Given the description of an element on the screen output the (x, y) to click on. 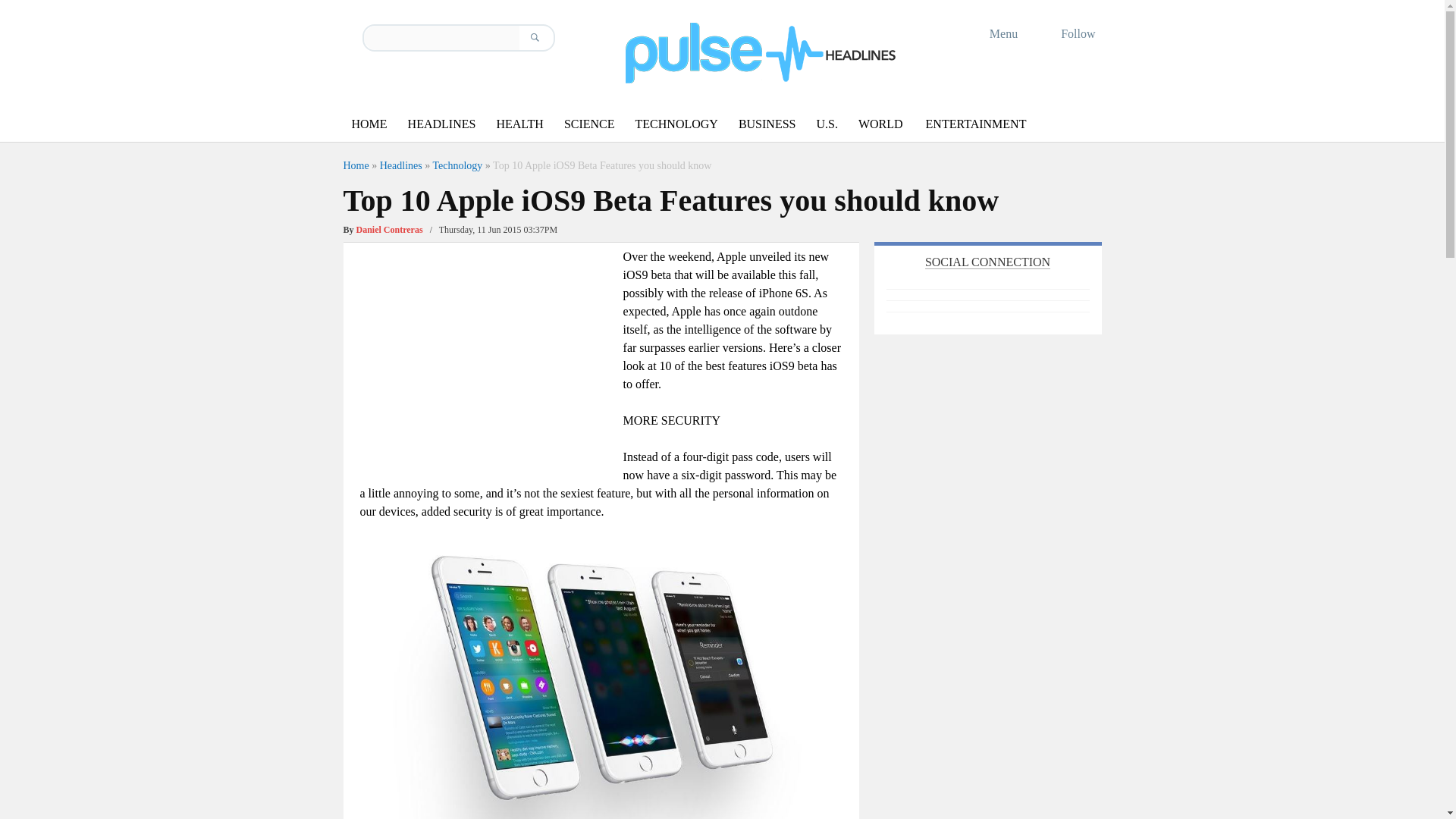
HEADLINES (441, 123)
HEALTH (519, 123)
Technology (456, 165)
Home (355, 165)
HOME (368, 123)
ENTERTAINMENT (975, 123)
SCIENCE (589, 123)
Daniel Contreras (389, 229)
Headlines (401, 165)
Menu (993, 33)
WORLD (880, 123)
Follow (1068, 33)
U.S. (826, 123)
BUSINESS (767, 123)
Advertisement (486, 354)
